Given the description of an element on the screen output the (x, y) to click on. 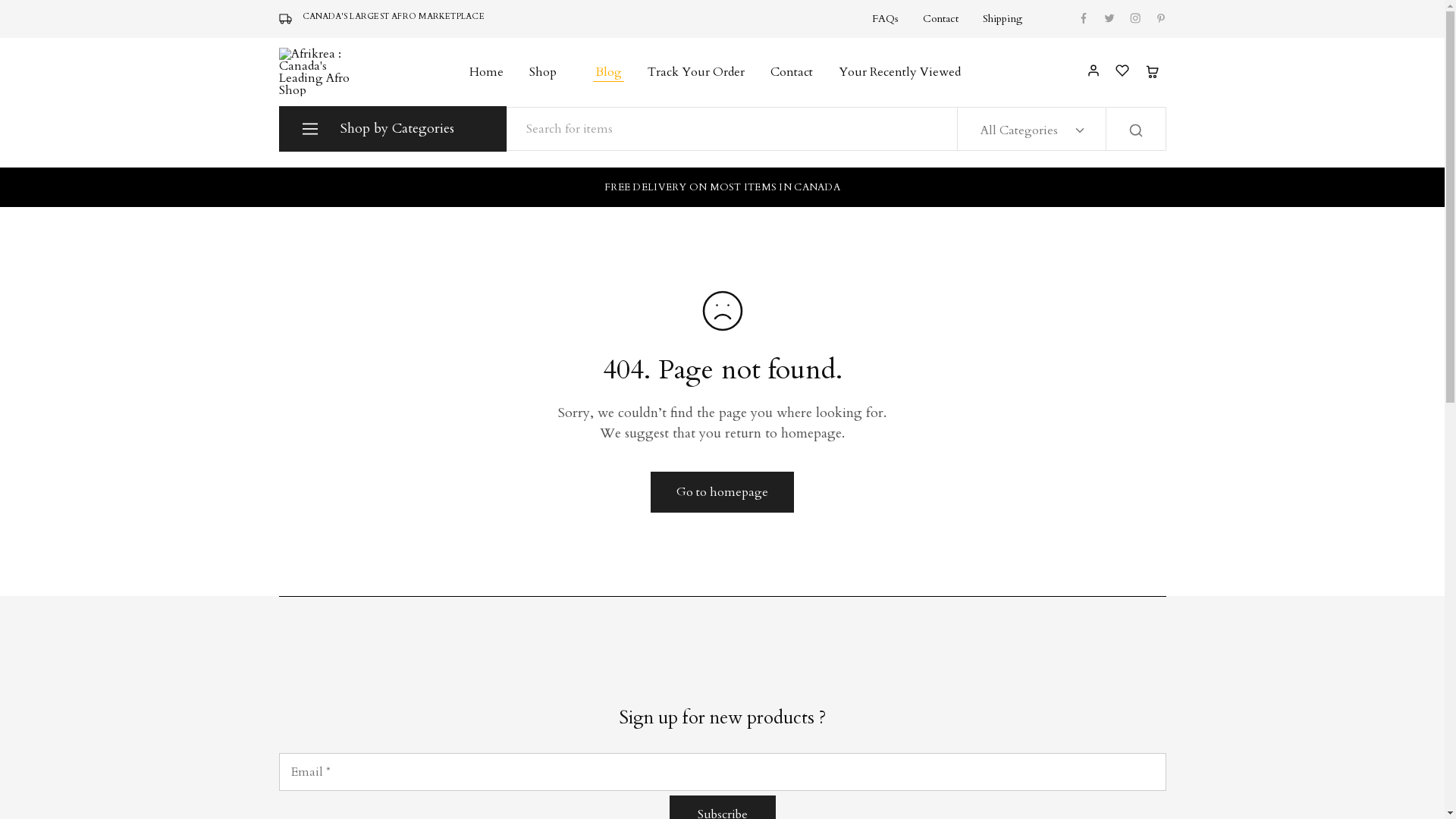
Go to homepage Element type: text (721, 491)
Contact Element type: text (939, 18)
FAQs Element type: text (885, 18)
Shipping Element type: text (1002, 18)
Blog Element type: text (608, 71)
Track Your Order Element type: text (695, 71)
Your Recently Viewed Element type: text (898, 71)
Contact Element type: text (790, 71)
Shop Element type: text (548, 71)
Home Element type: text (486, 71)
